Given the description of an element on the screen output the (x, y) to click on. 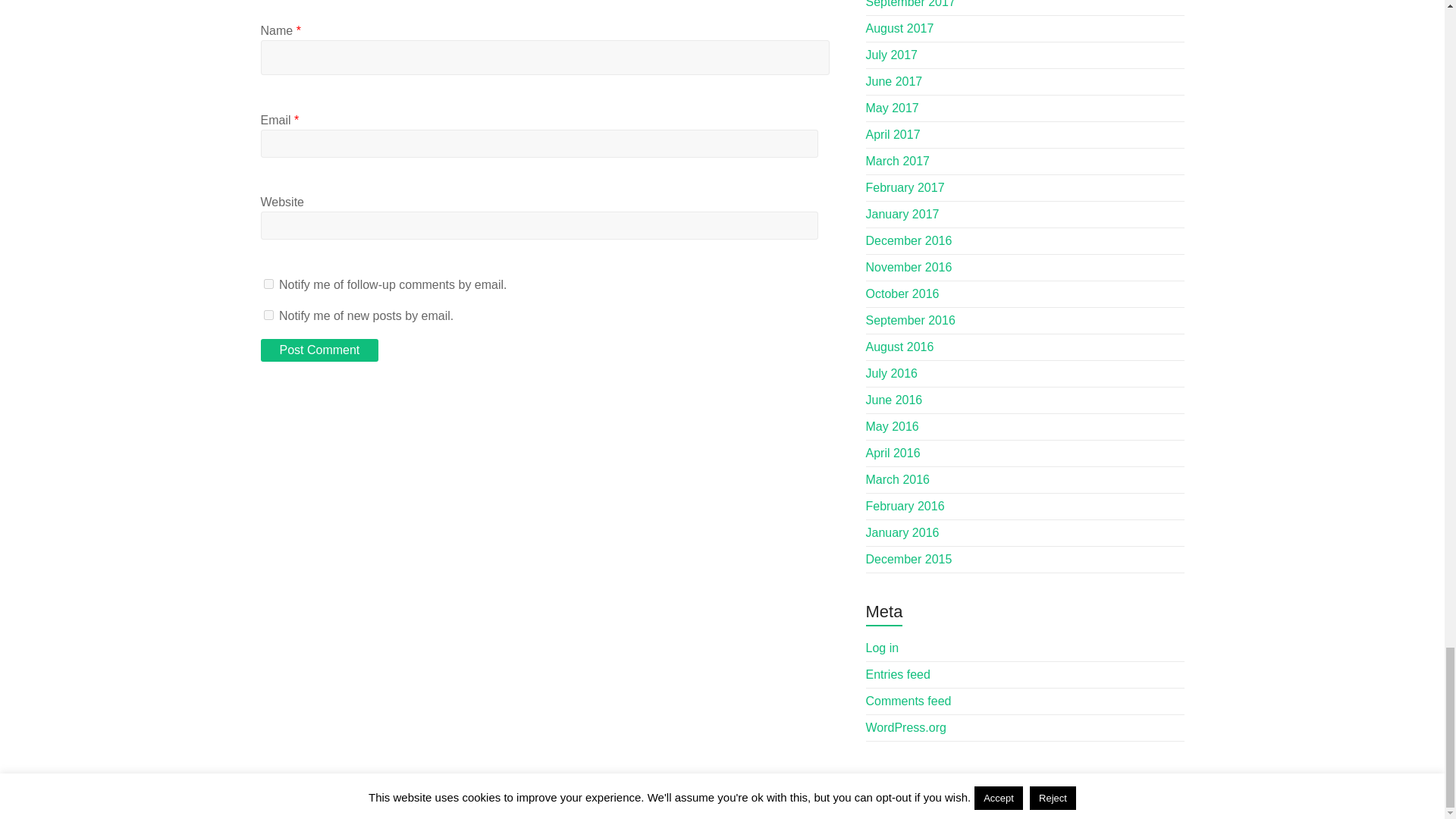
Post Comment (319, 350)
The Traveling Image Makers (390, 790)
Post Comment (319, 350)
Spacious (580, 790)
subscribe (268, 284)
WordPress (282, 804)
subscribe (268, 315)
